Given the description of an element on the screen output the (x, y) to click on. 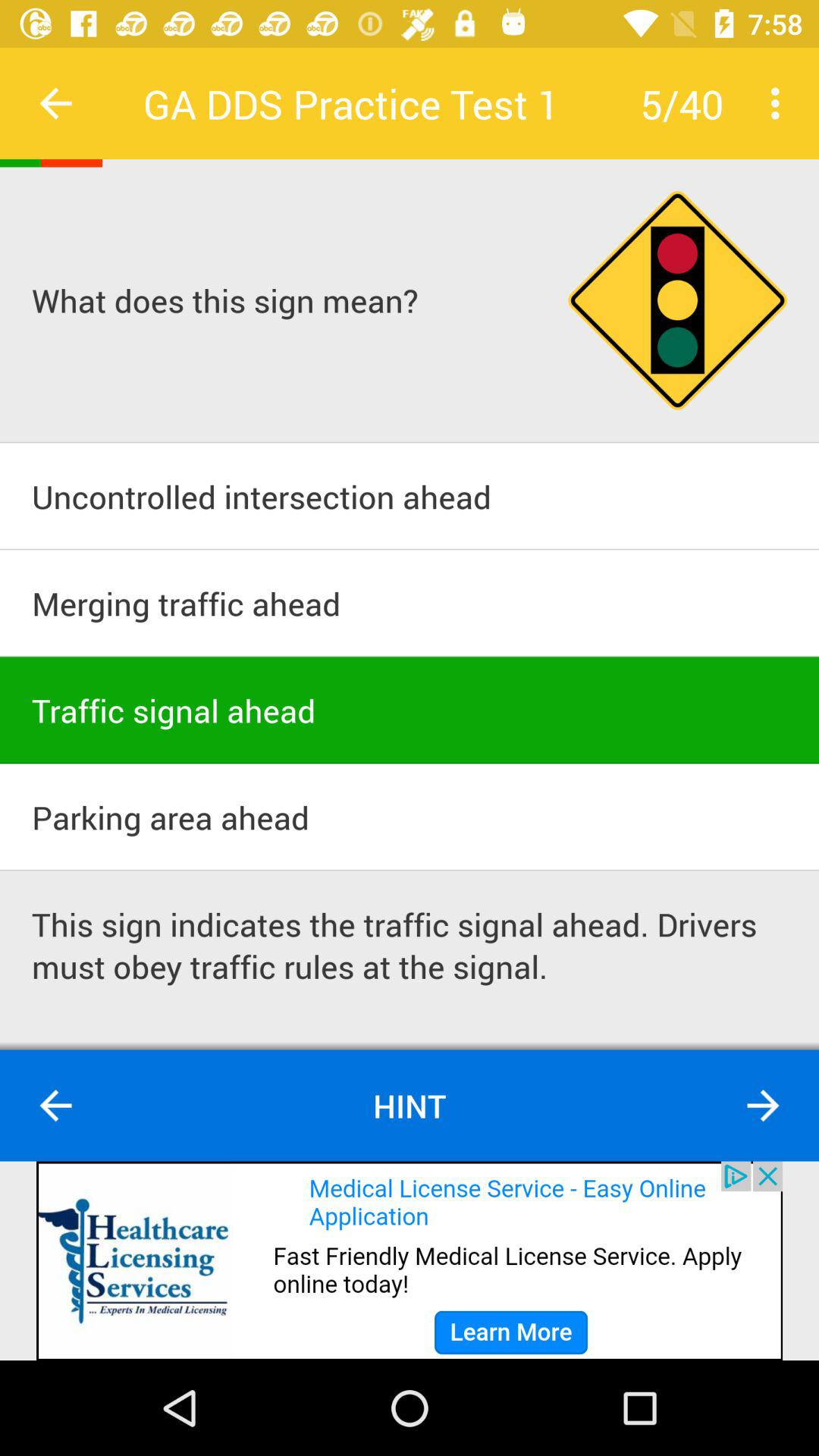
traffic light (677, 300)
